Given the description of an element on the screen output the (x, y) to click on. 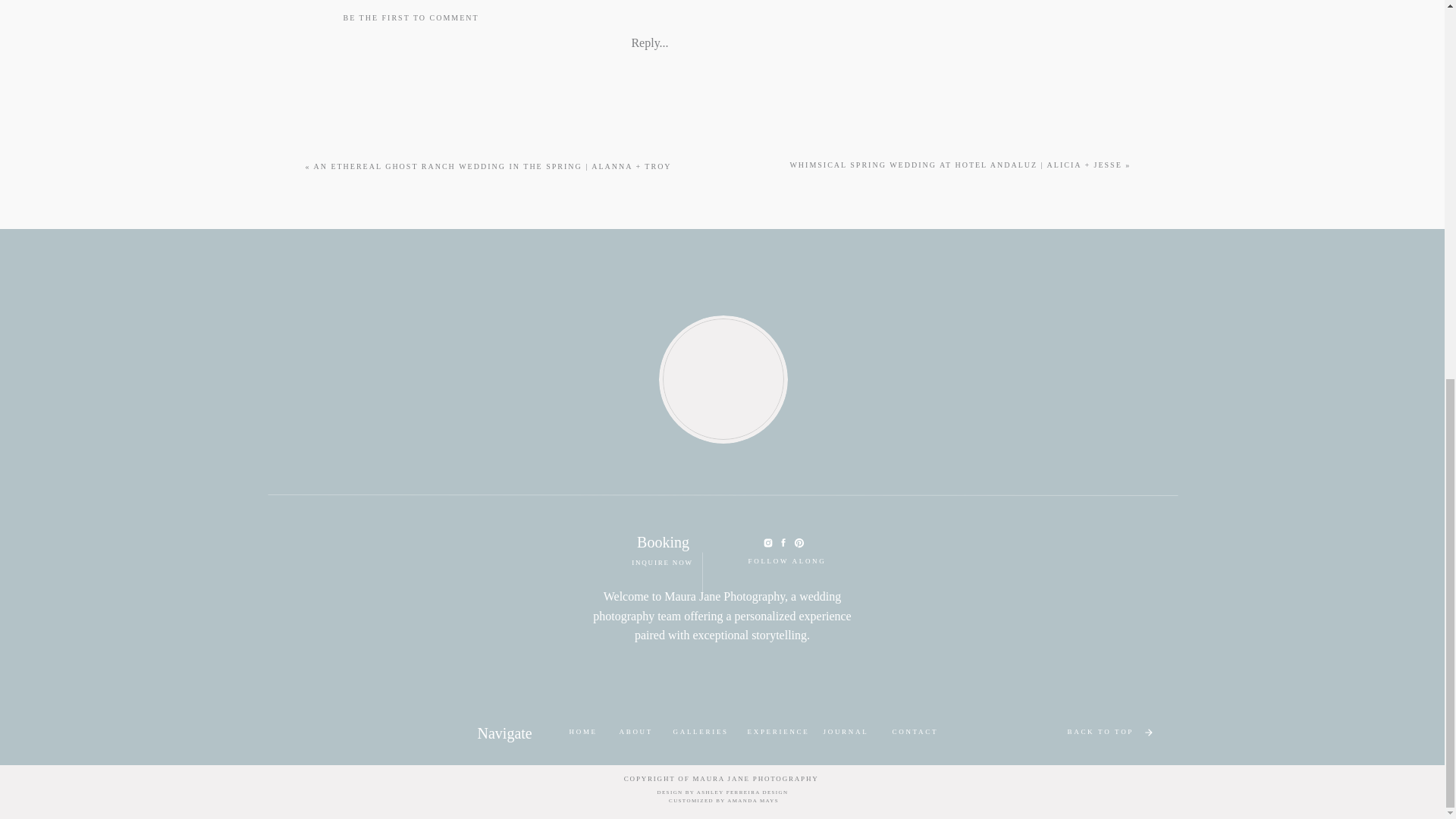
Booking (662, 536)
COPYRIGHT OF MAURA JANE PHOTOGRAPHY  (722, 777)
AMANDA MAYS (752, 800)
ABOUT (635, 732)
FOLLOW ALONG (784, 562)
BE THE FIRST TO COMMENT (410, 17)
BACK TO TOP (1101, 732)
FERREIRA DESIGN (757, 792)
HOME (582, 732)
INQUIRE NOW (661, 564)
JOURNAL (847, 732)
EXPERIENCE (775, 732)
GALLERIES (700, 732)
CONTACT (915, 732)
